Given the description of an element on the screen output the (x, y) to click on. 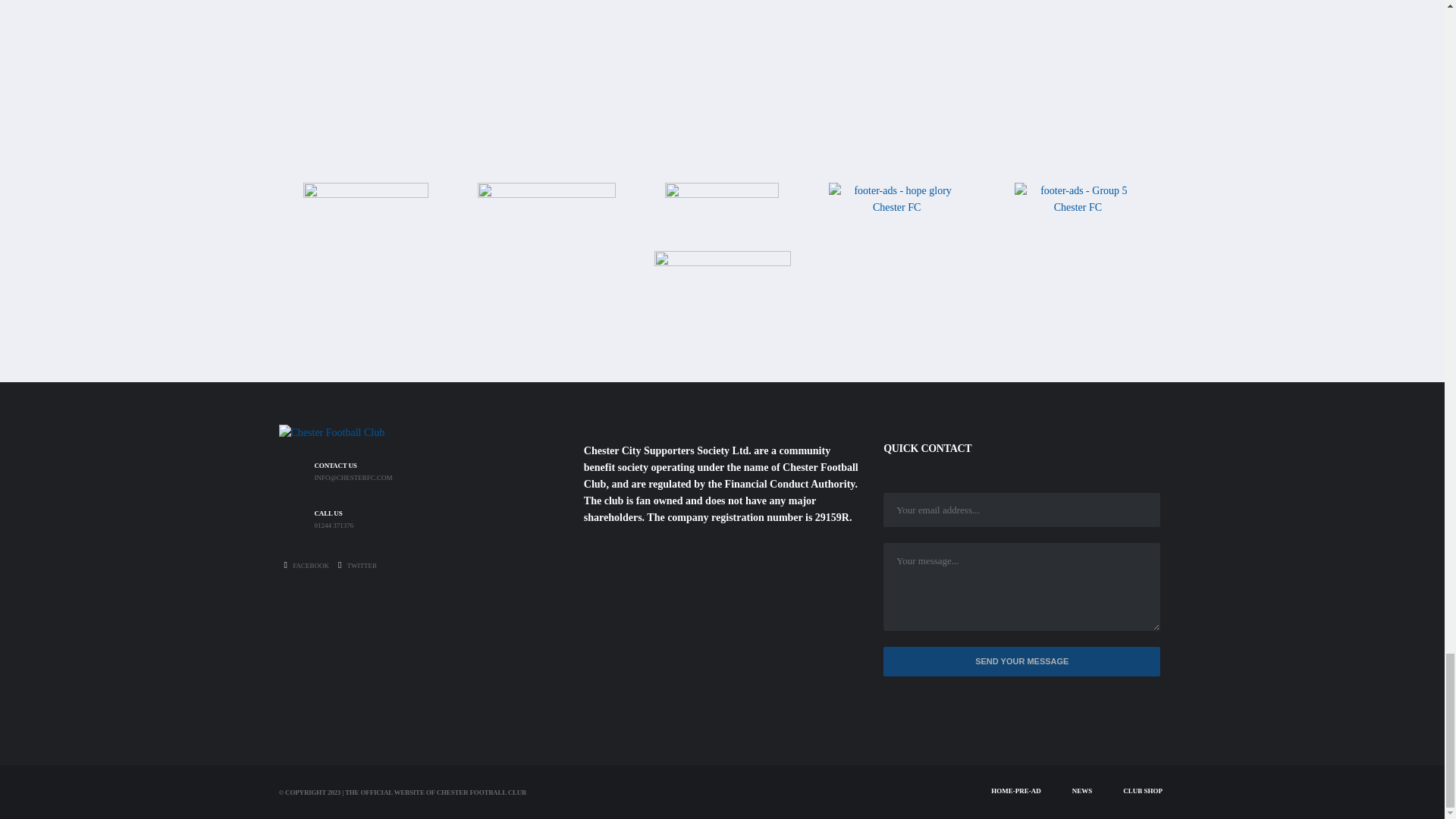
New-Balance-80 (365, 213)
Send Your Message (1021, 661)
Group 5 photo (1077, 208)
Mars-Jones-Logo-BG (721, 297)
hope glory photo (896, 215)
mbna-2019-1 (546, 214)
Print (721, 215)
